Given the description of an element on the screen output the (x, y) to click on. 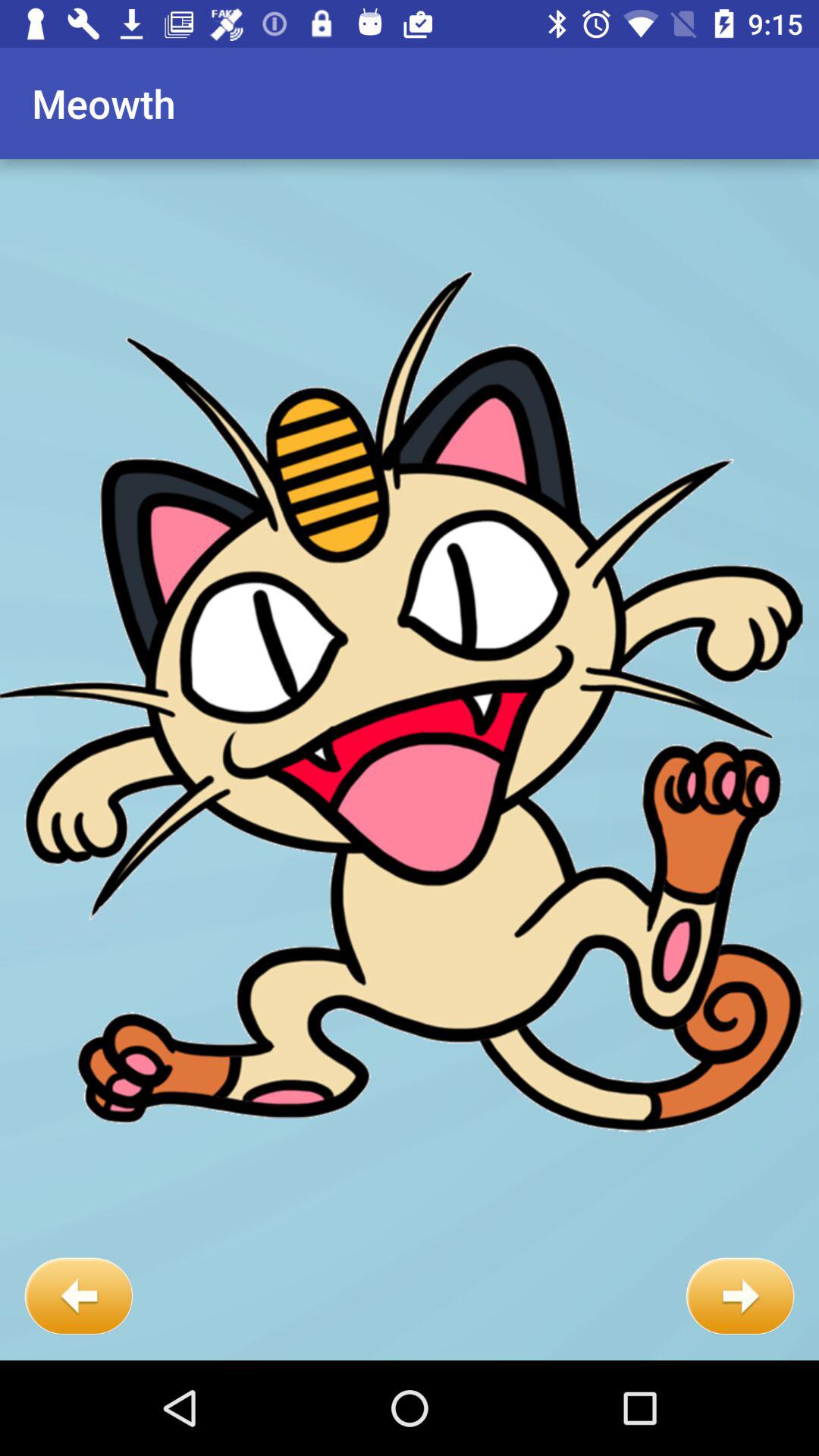
choose item at the bottom right corner (740, 1296)
